Given the description of an element on the screen output the (x, y) to click on. 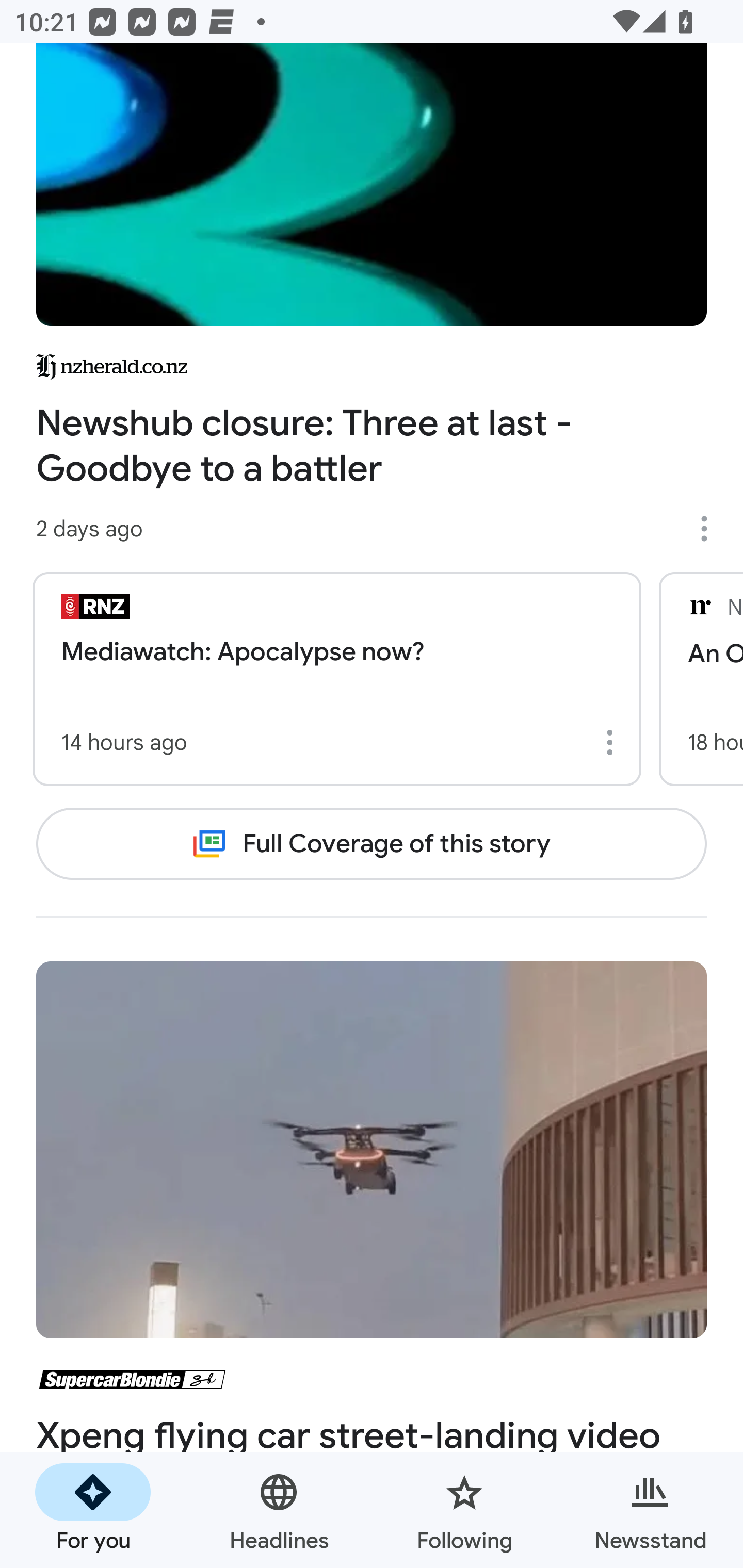
More options (711, 528)
More options (613, 742)
Full Coverage of this story (371, 843)
For you (92, 1509)
Headlines (278, 1509)
Following (464, 1509)
Newsstand (650, 1509)
